Given the description of an element on the screen output the (x, y) to click on. 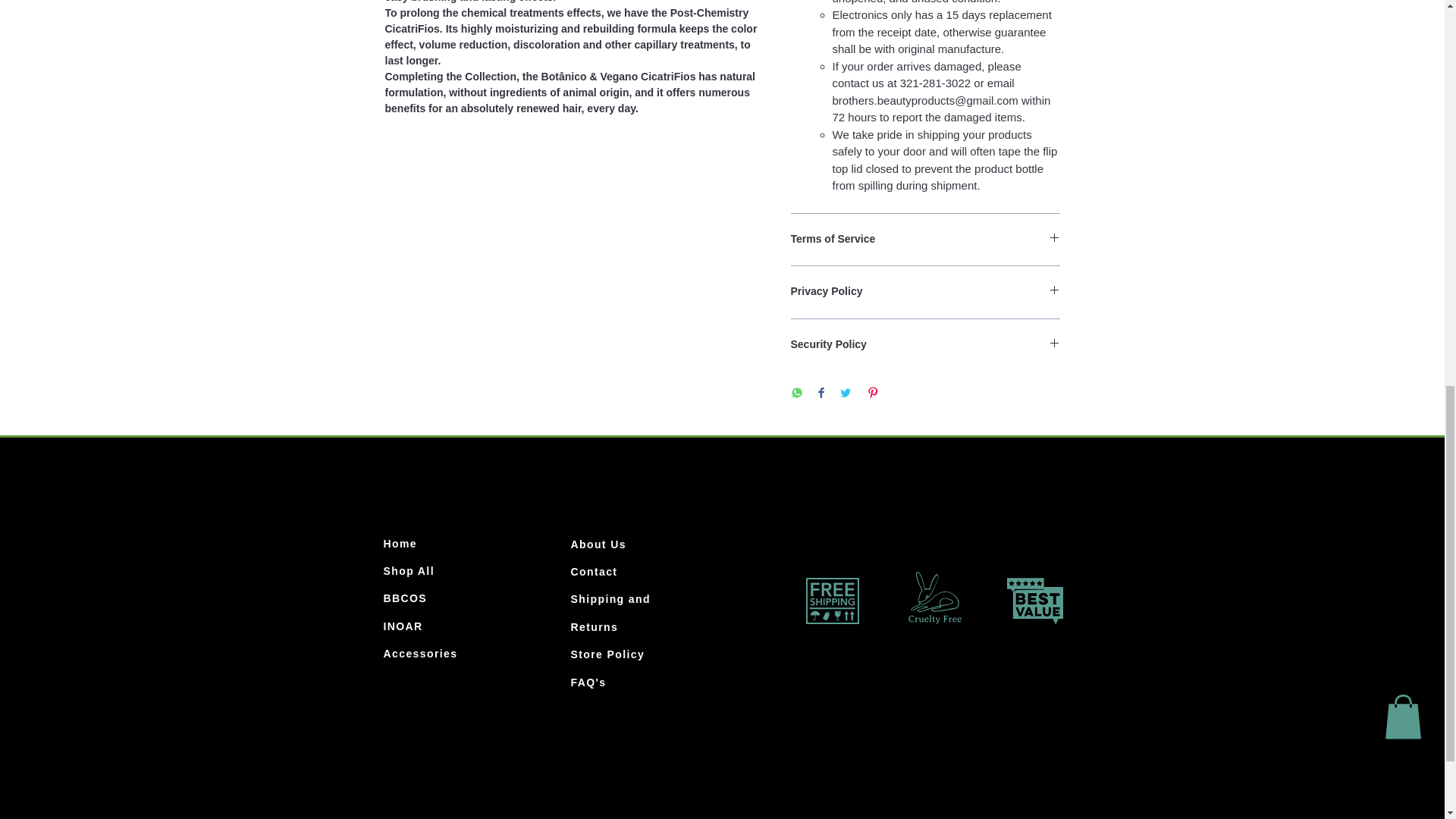
Shipping and Returns (609, 612)
FAQ's (587, 682)
Shop All (408, 571)
Store Policy (607, 654)
Contact (593, 571)
Accessories (421, 653)
Security Policy (924, 344)
Home (400, 543)
About Us (598, 544)
Privacy Policy (924, 292)
Terms of Service (924, 239)
